Given the description of an element on the screen output the (x, y) to click on. 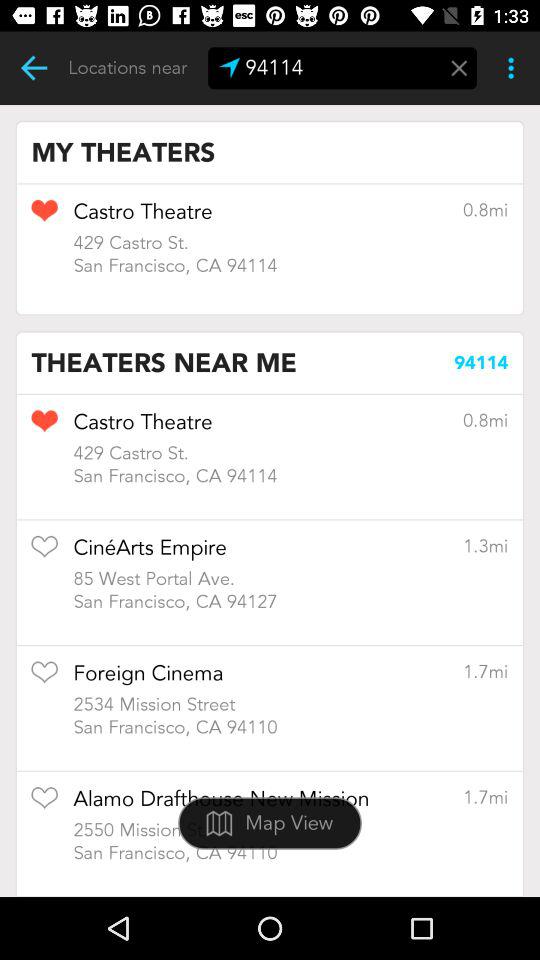
delete (459, 68)
